Given the description of an element on the screen output the (x, y) to click on. 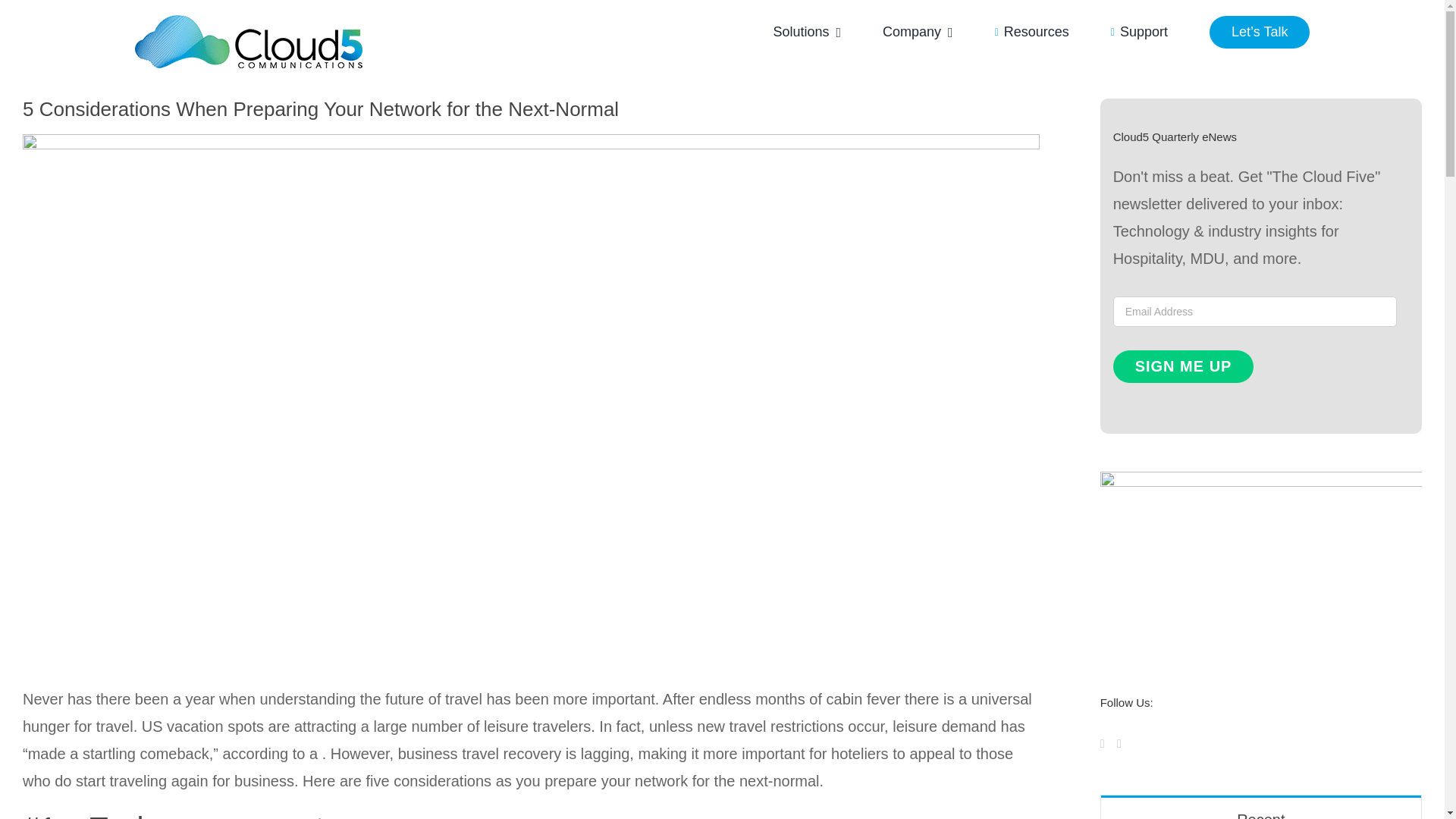
Resources (1031, 31)
Solutions (807, 31)
Company (917, 31)
Sign Me Up (1183, 366)
Support (1138, 31)
Sign Me Up (1183, 366)
